Given the description of an element on the screen output the (x, y) to click on. 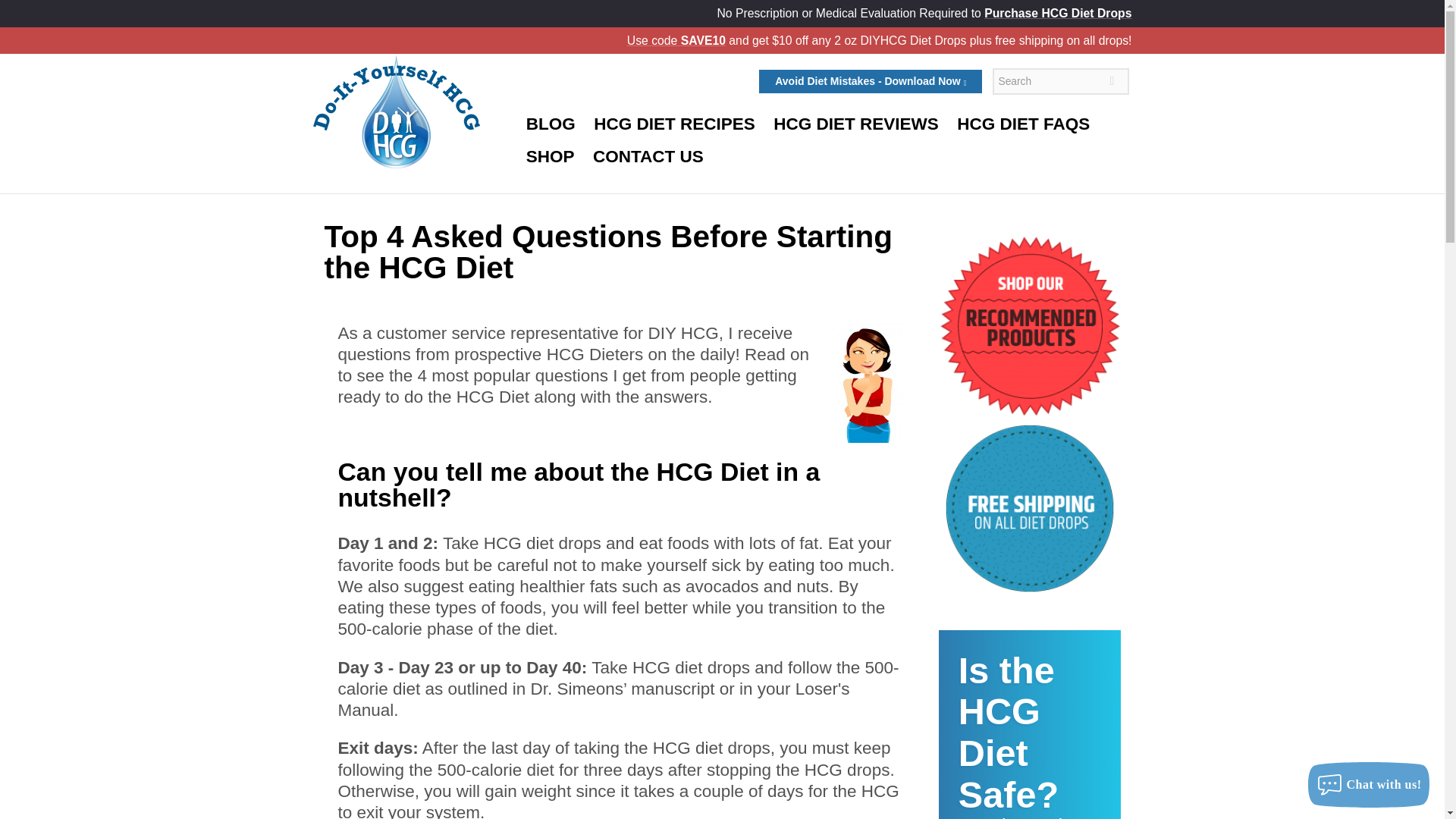
www.diyhcg.com home (396, 110)
CONTACT US (648, 156)
HCG DIET REVIEWS (856, 124)
Use code SAVE10 (1030, 724)
SHOP (676, 40)
HCG DIET FAQS (549, 156)
Purchase HCG Diet Drops (1024, 124)
HCG DIET RECIPES (1057, 12)
BLOG (673, 124)
Avoid Diet Mistakes - Download Now (549, 124)
